Given the description of an element on the screen output the (x, y) to click on. 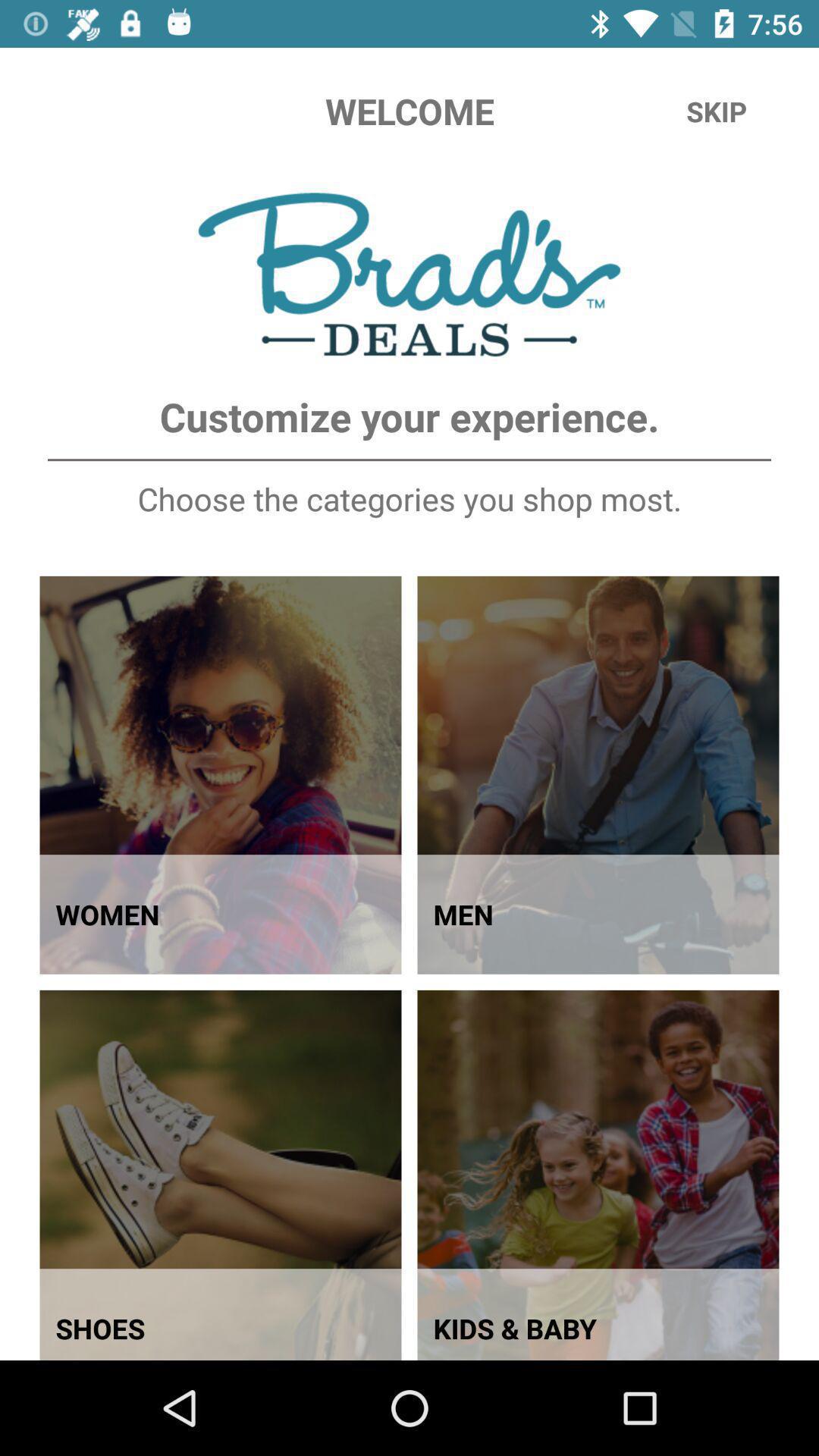
open the icon at the top right corner (716, 111)
